Given the description of an element on the screen output the (x, y) to click on. 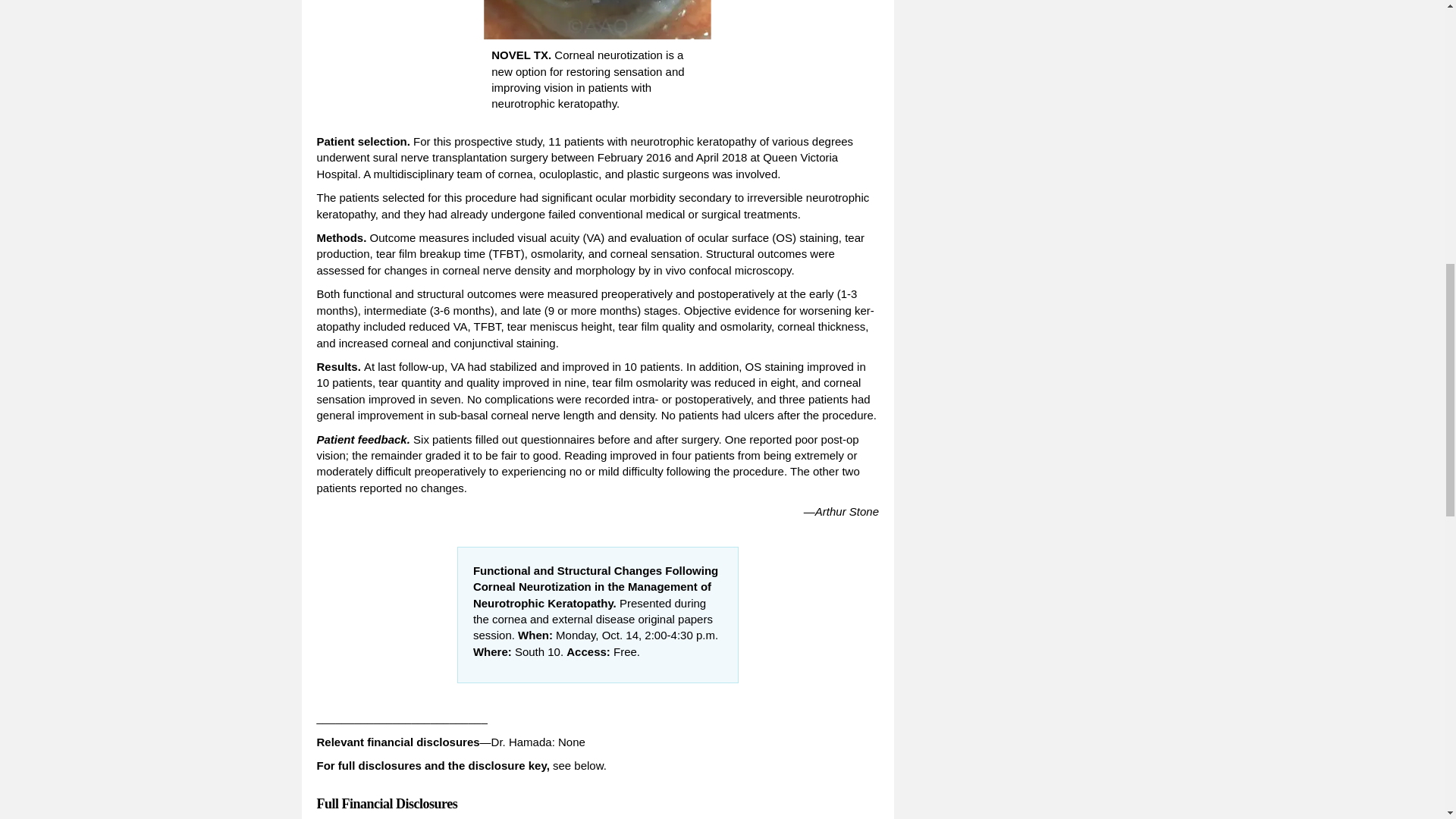
Novel Tx (597, 19)
